Given the description of an element on the screen output the (x, y) to click on. 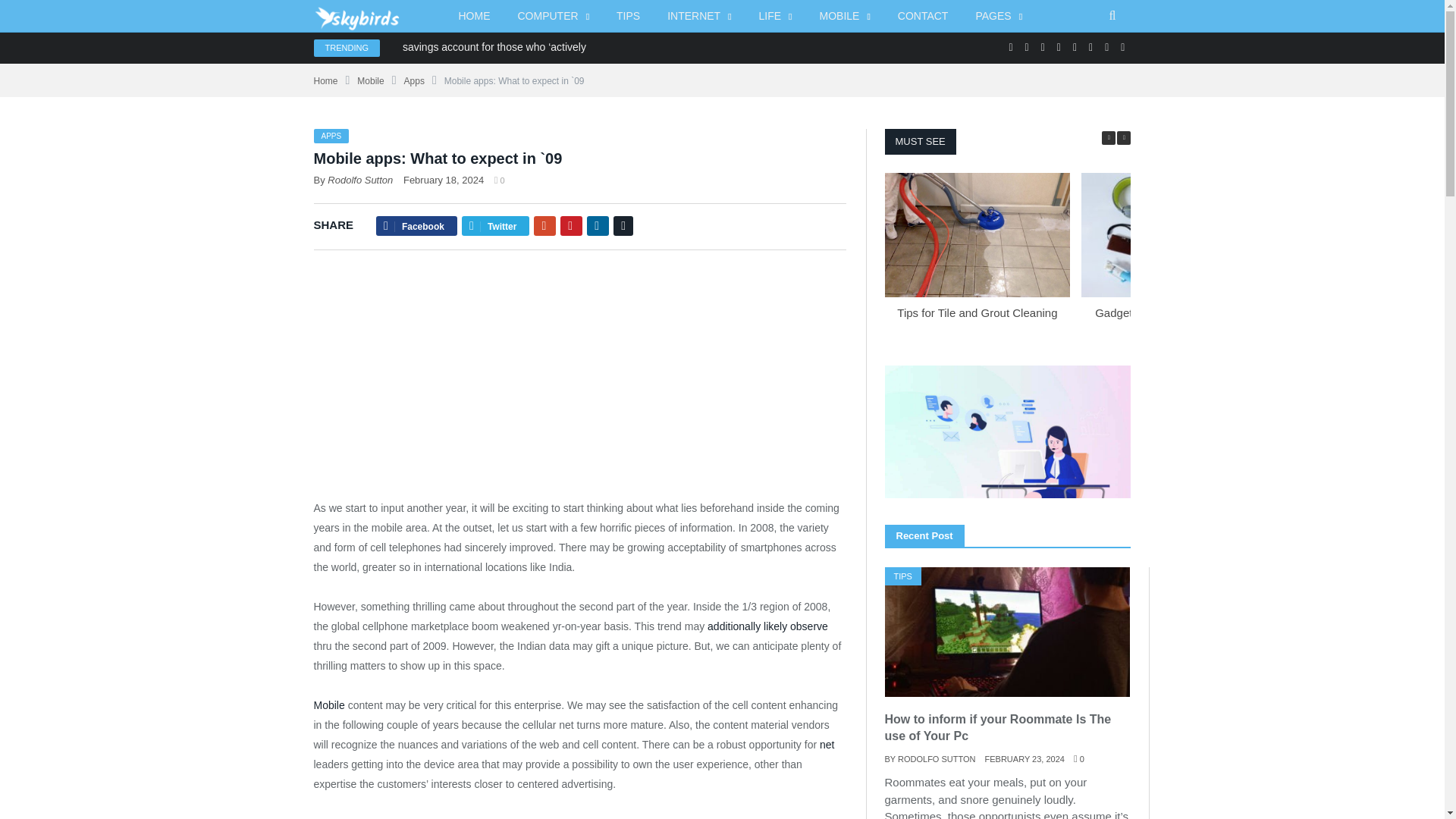
COMPUTER (552, 16)
MOBILE (844, 16)
Skybirds (364, 15)
HOME (473, 16)
INTERNET (698, 16)
LIFE (775, 16)
Google Plus (1027, 47)
CONTACT (922, 16)
Facebook (1010, 47)
Linkedin (1059, 47)
